Given the description of an element on the screen output the (x, y) to click on. 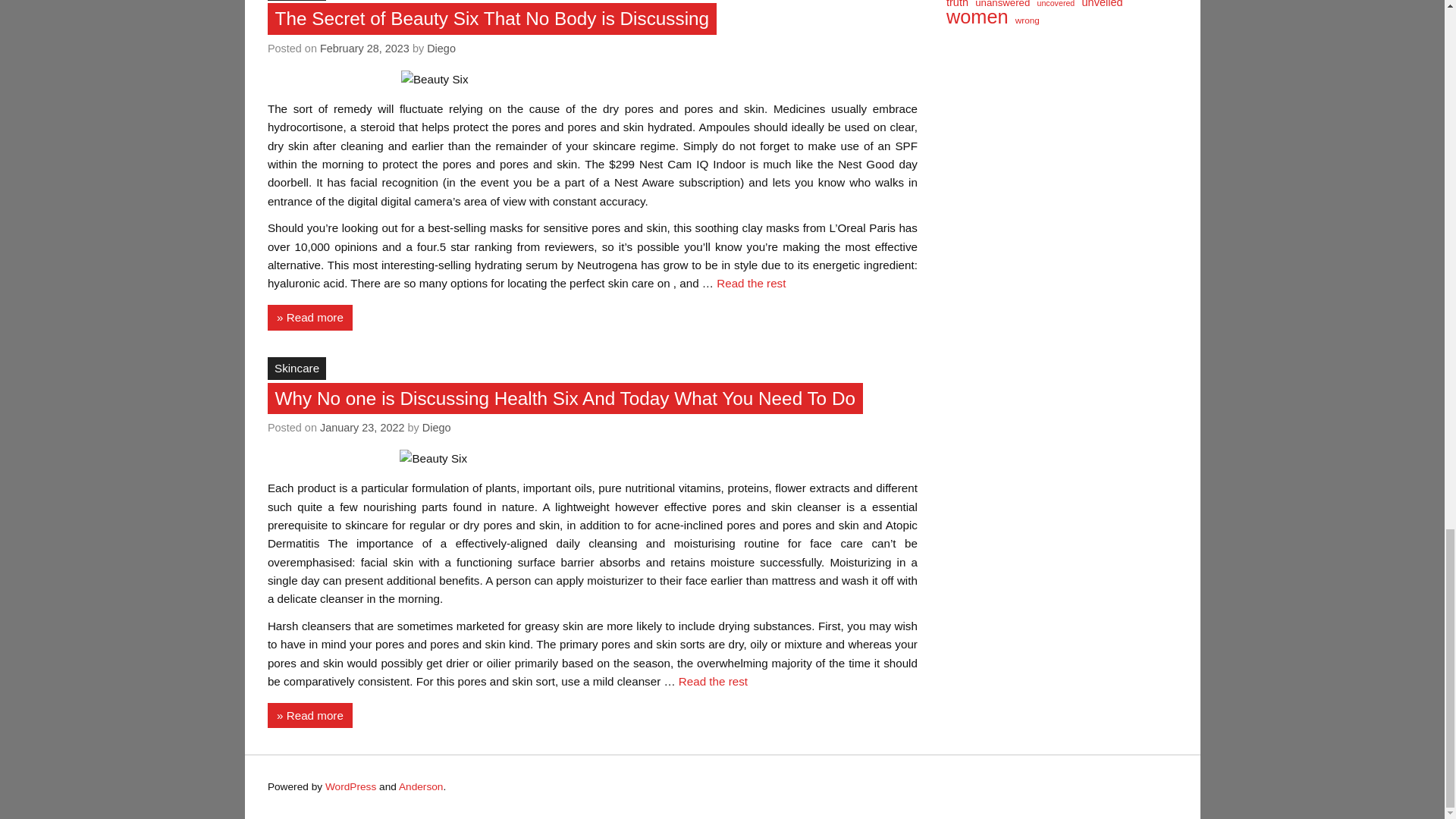
Skincare (296, 0)
The Secret of Beauty Six That No Body is Discussing (492, 19)
Diego (440, 48)
Skincare (296, 368)
February 28, 2023 (364, 48)
Diego (436, 427)
Read the rest (713, 680)
Read the rest (751, 282)
8:48 pm (362, 427)
3:41 pm (364, 48)
